Given the description of an element on the screen output the (x, y) to click on. 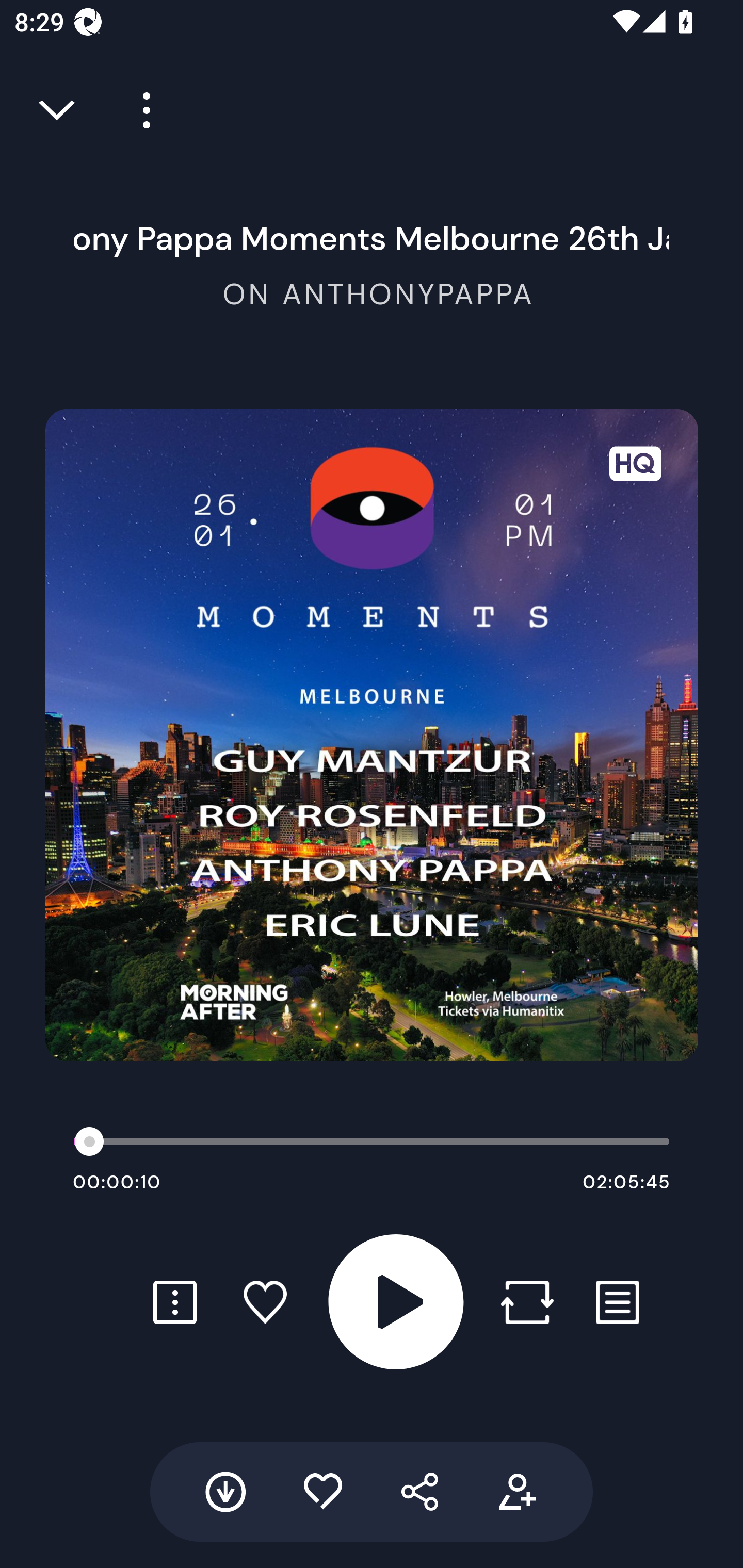
Close full player (58, 110)
Player more options button (139, 110)
Repost button (527, 1301)
